Given the description of an element on the screen output the (x, y) to click on. 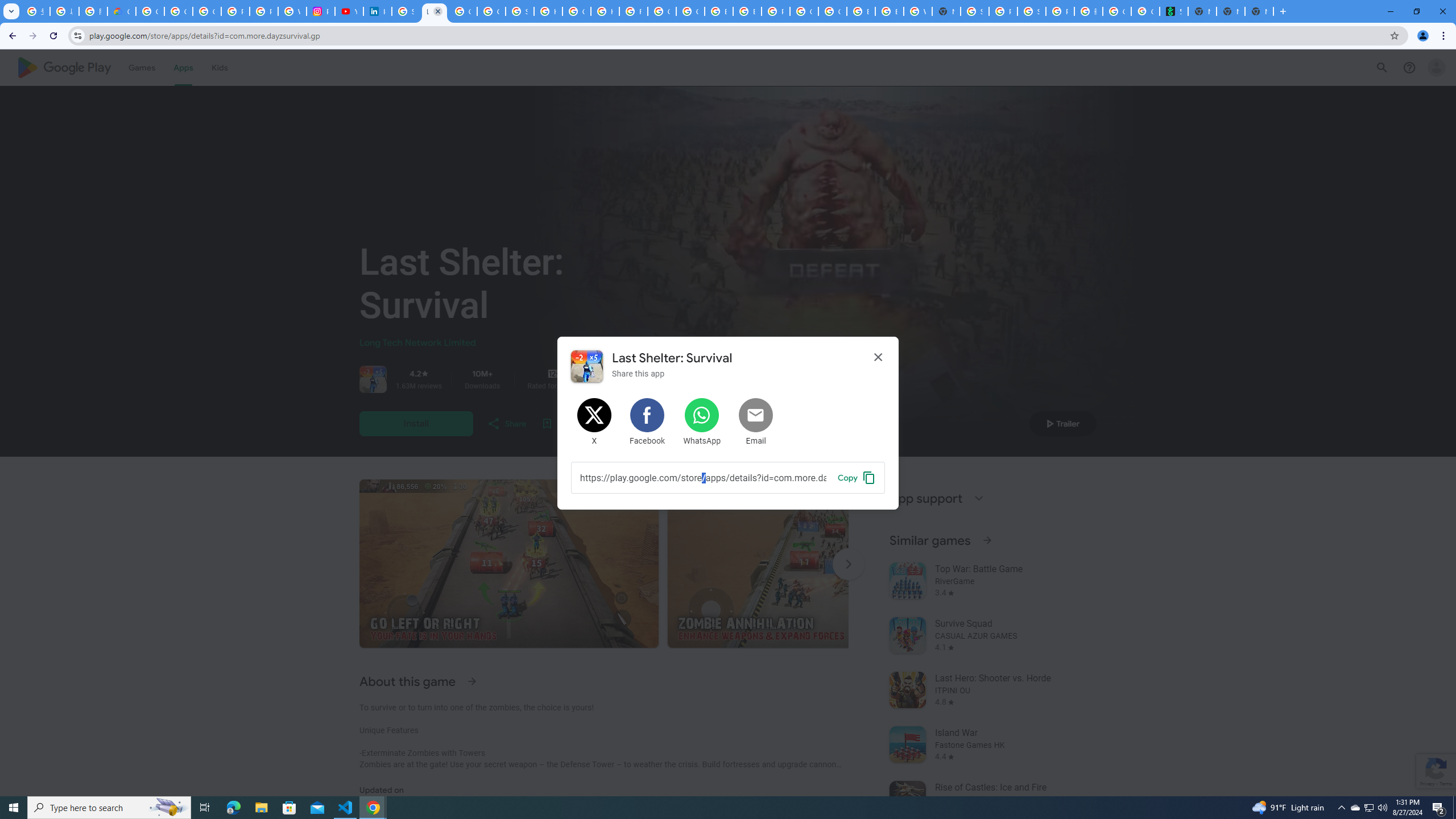
Last Shelter: Survival - Apps on Google Play (434, 11)
Browse Chrome as a guest - Computer - Google Chrome Help (718, 11)
Share on Facebook (647, 421)
Google Cloud Platform (804, 11)
New Tab (946, 11)
